Given the description of an element on the screen output the (x, y) to click on. 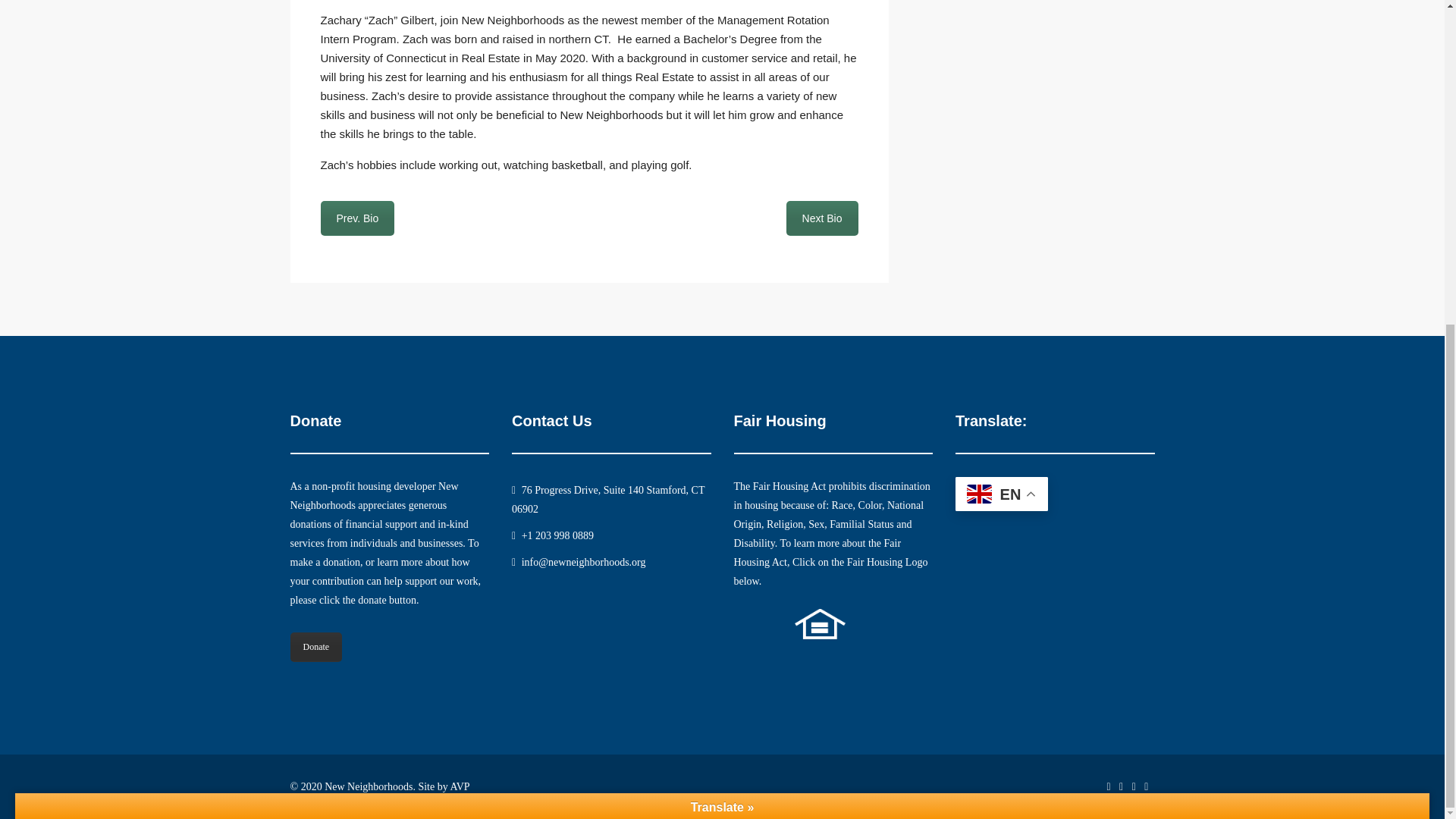
William J. Healy II Biography (822, 217)
Shivani Chhatani Biography (357, 217)
